Given the description of an element on the screen output the (x, y) to click on. 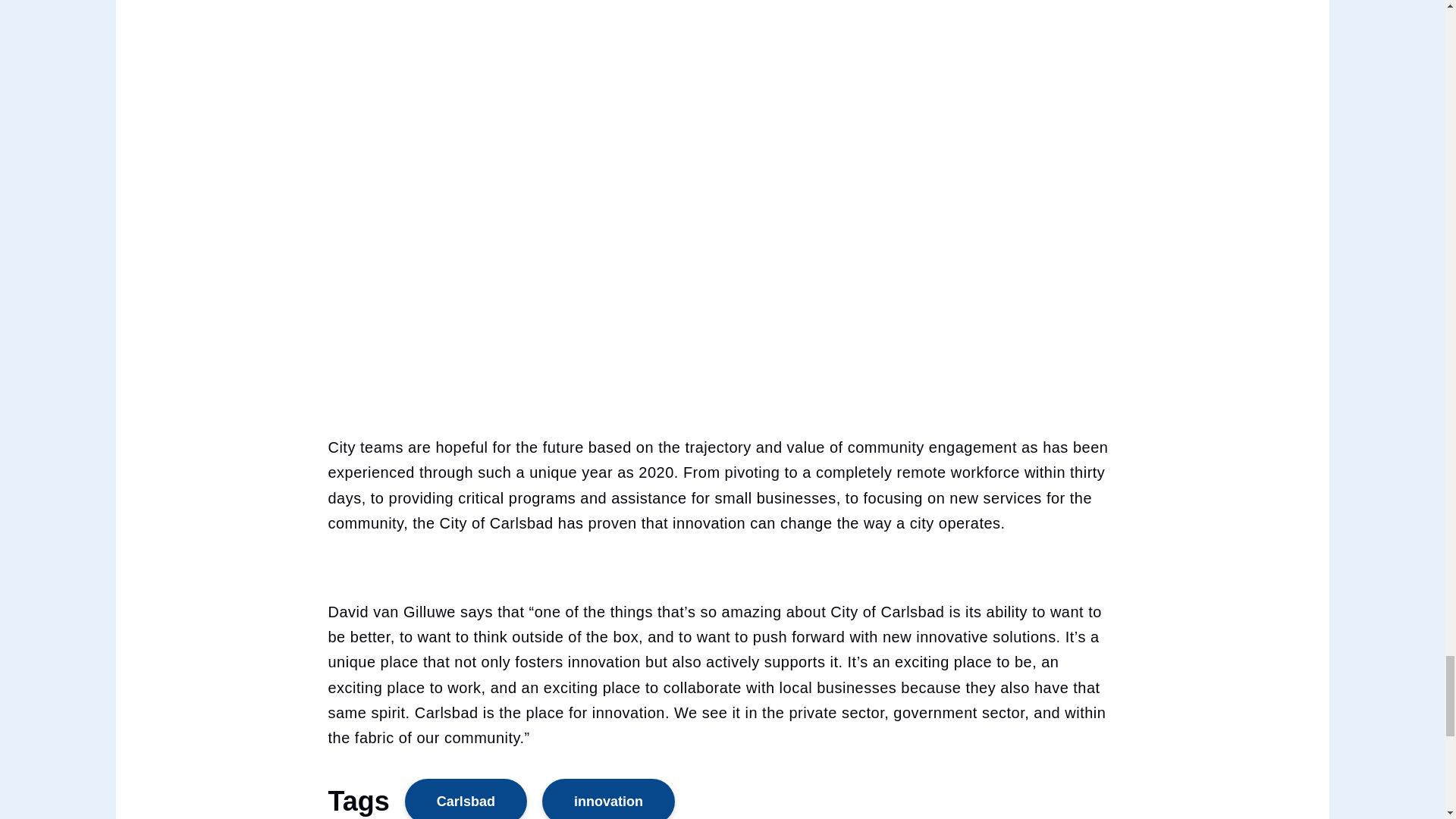
Carlsbad (465, 798)
innovation (608, 798)
